Given the description of an element on the screen output the (x, y) to click on. 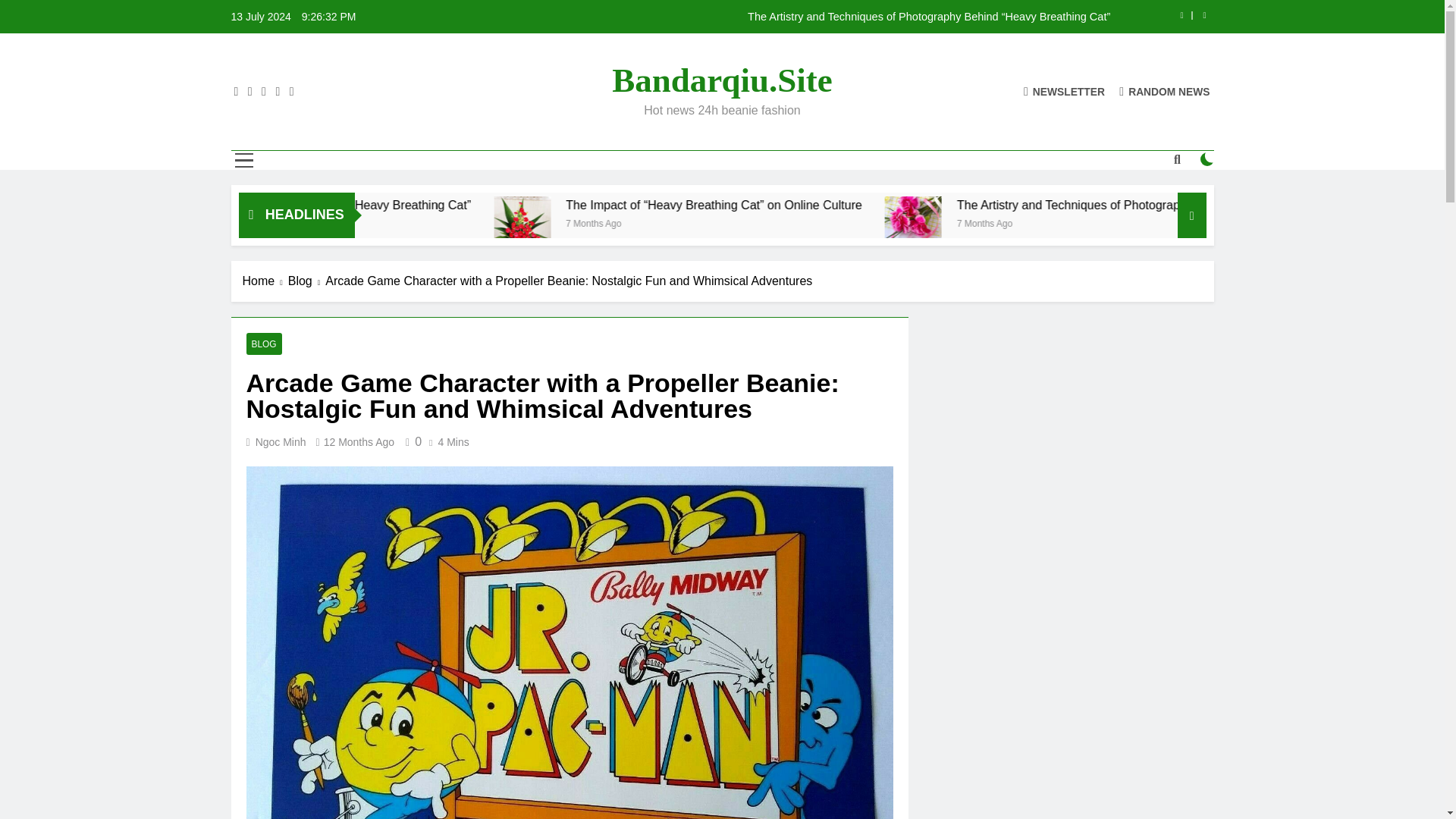
NEWSLETTER (1064, 91)
Bandarqiu.Site (721, 80)
RANDOM NEWS (1164, 91)
7 Months Ago (807, 222)
7 Months Ago (372, 222)
7 Months Ago (1190, 222)
on (1206, 159)
